Given the description of an element on the screen output the (x, y) to click on. 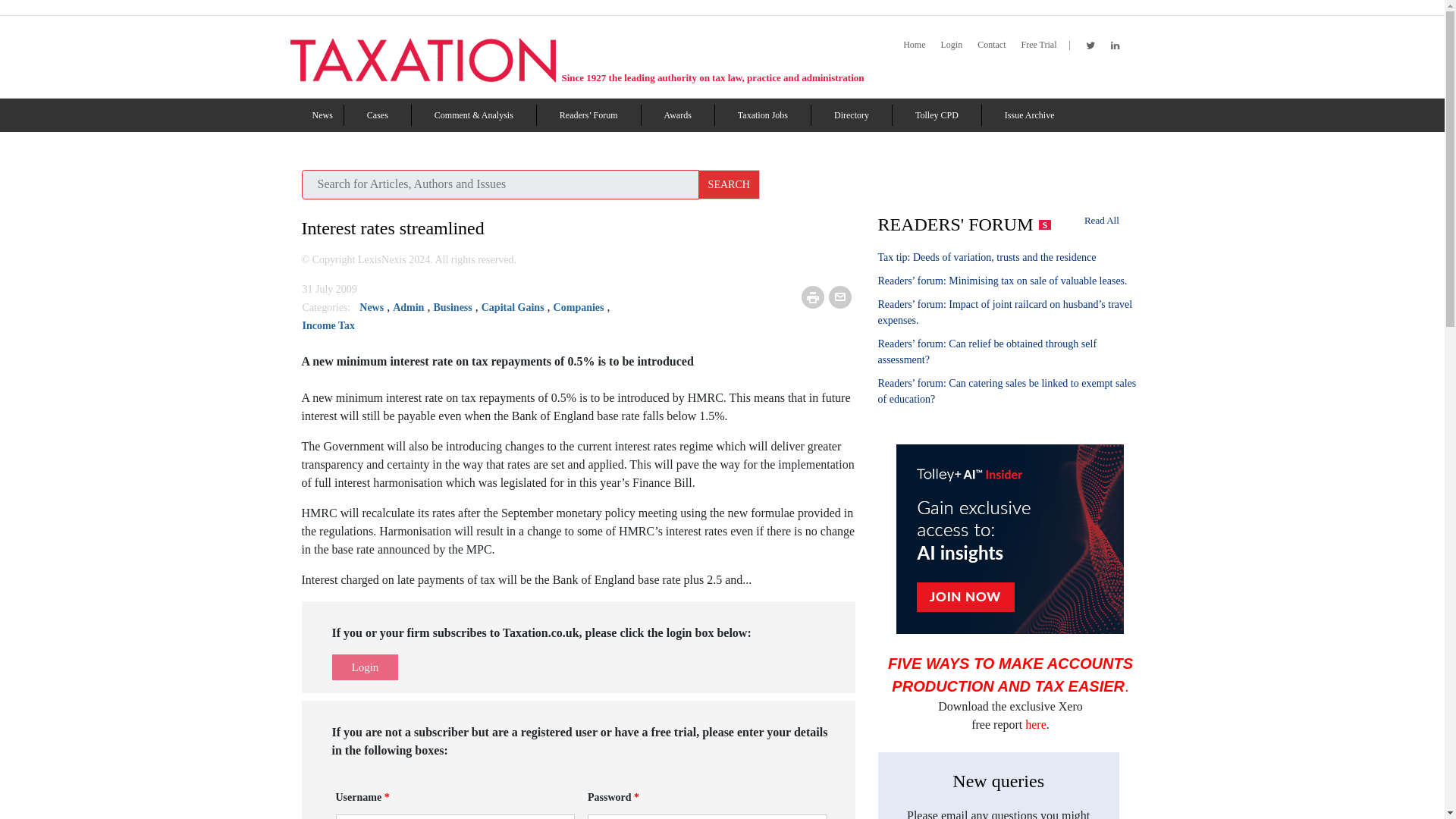
Taxation Jobs (762, 115)
News (323, 115)
Tax cases (377, 115)
Directory (851, 115)
News (323, 115)
Home (913, 44)
Issue Archive (1029, 115)
Issue Archive (1029, 115)
Admin (408, 307)
Taxation Awards (677, 115)
